Given the description of an element on the screen output the (x, y) to click on. 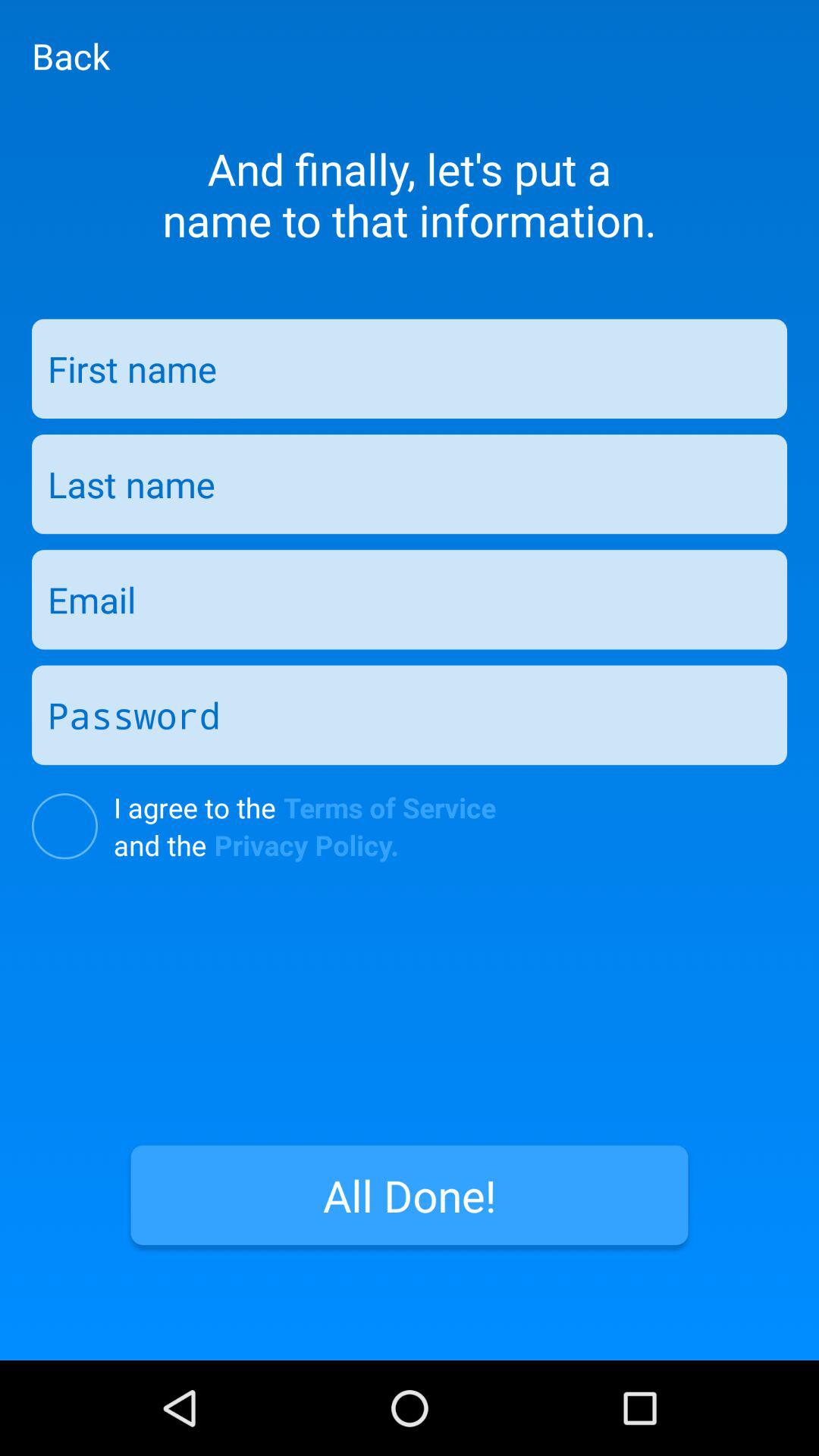
text box (409, 714)
